Given the description of an element on the screen output the (x, y) to click on. 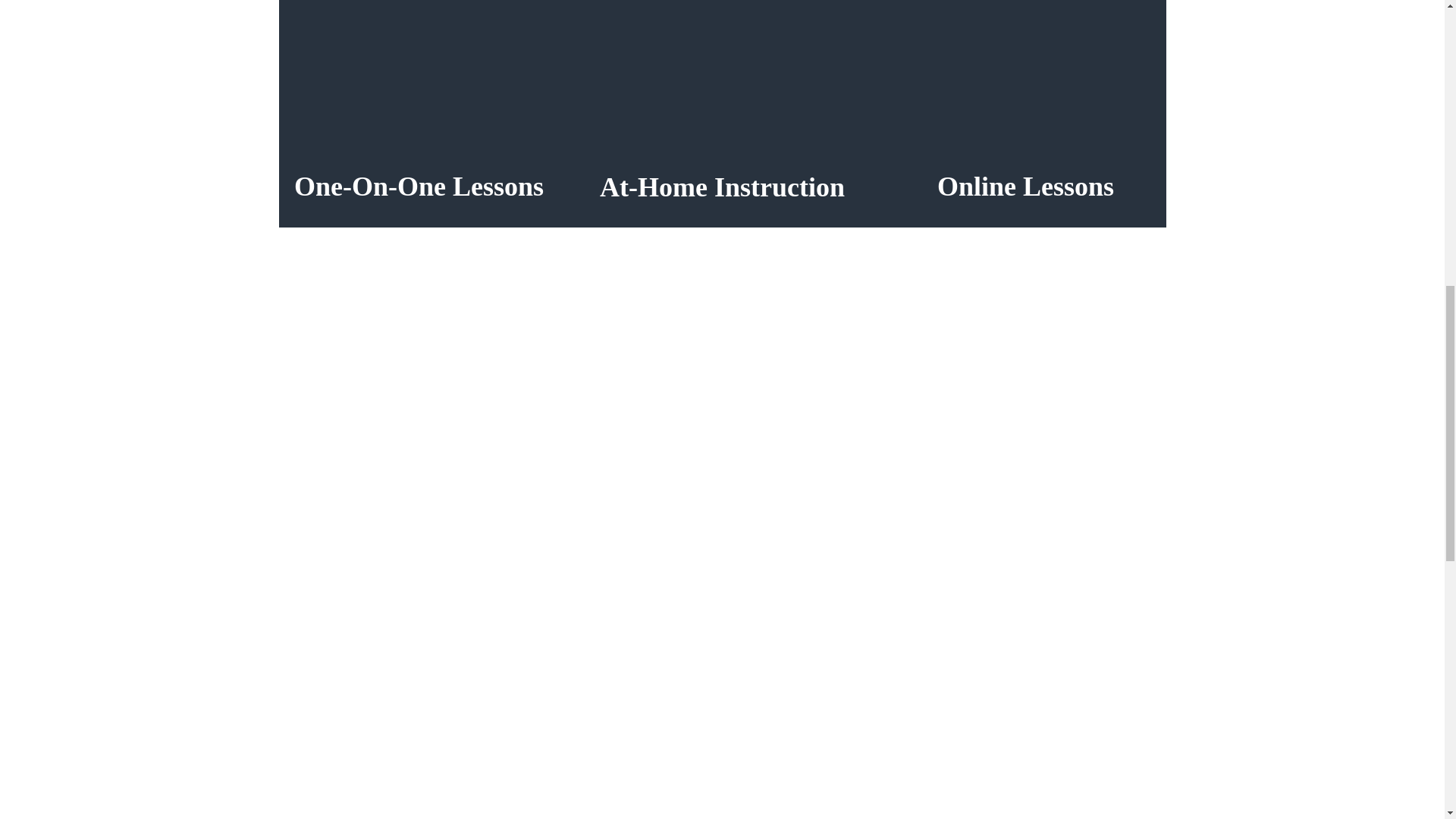
Little guitarist (1025, 84)
Musician playing on acoustic guitar (419, 84)
Teachers (1025, 186)
Girl play the piano (720, 84)
